Given the description of an element on the screen output the (x, y) to click on. 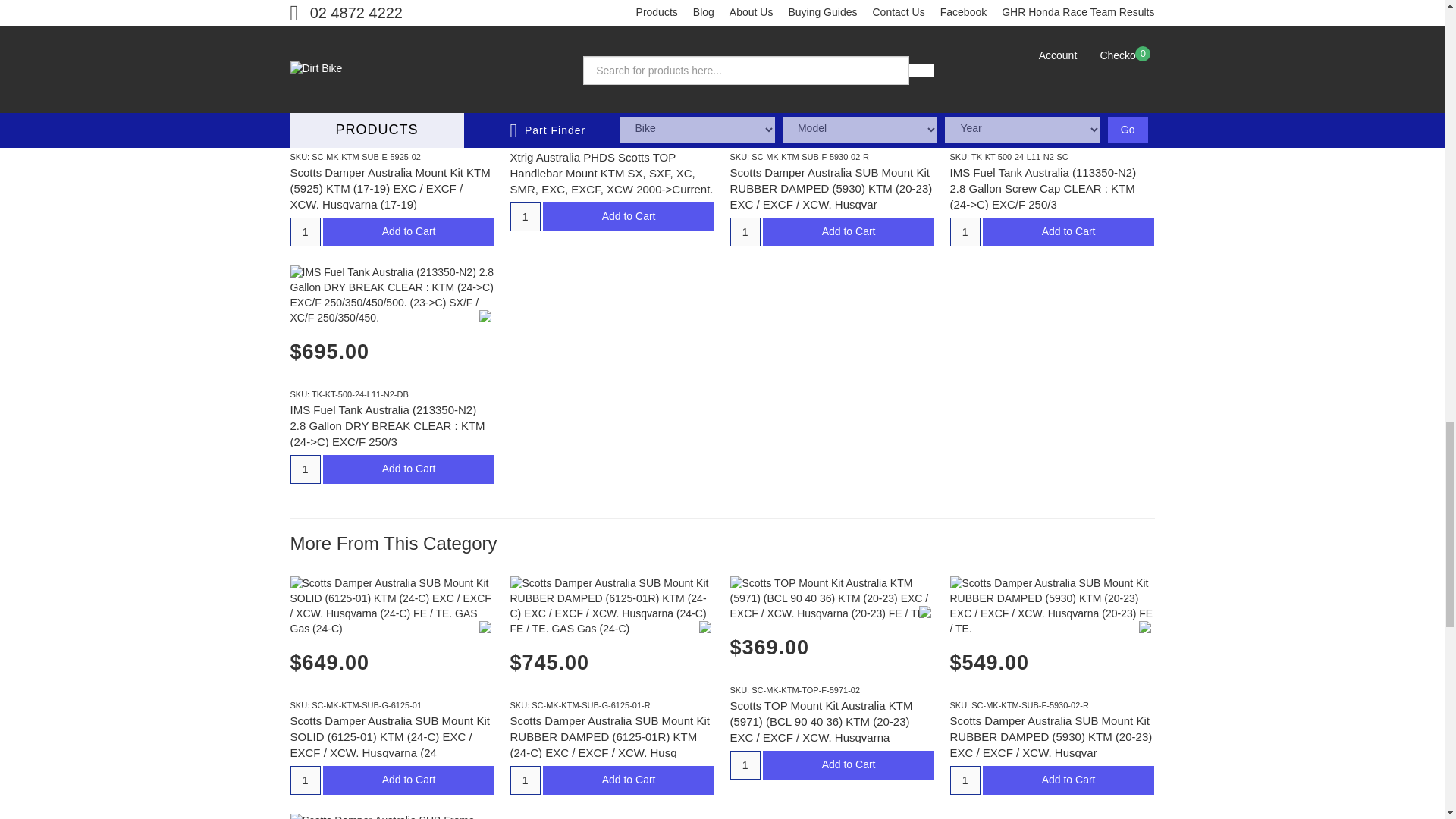
1 (304, 231)
1 (744, 231)
Add to Cart (628, 216)
Scotts (485, 78)
1 (304, 469)
Add to Cart (409, 231)
Scotts (704, 63)
1 (304, 779)
1 (524, 216)
1 (744, 765)
